Given the description of an element on the screen output the (x, y) to click on. 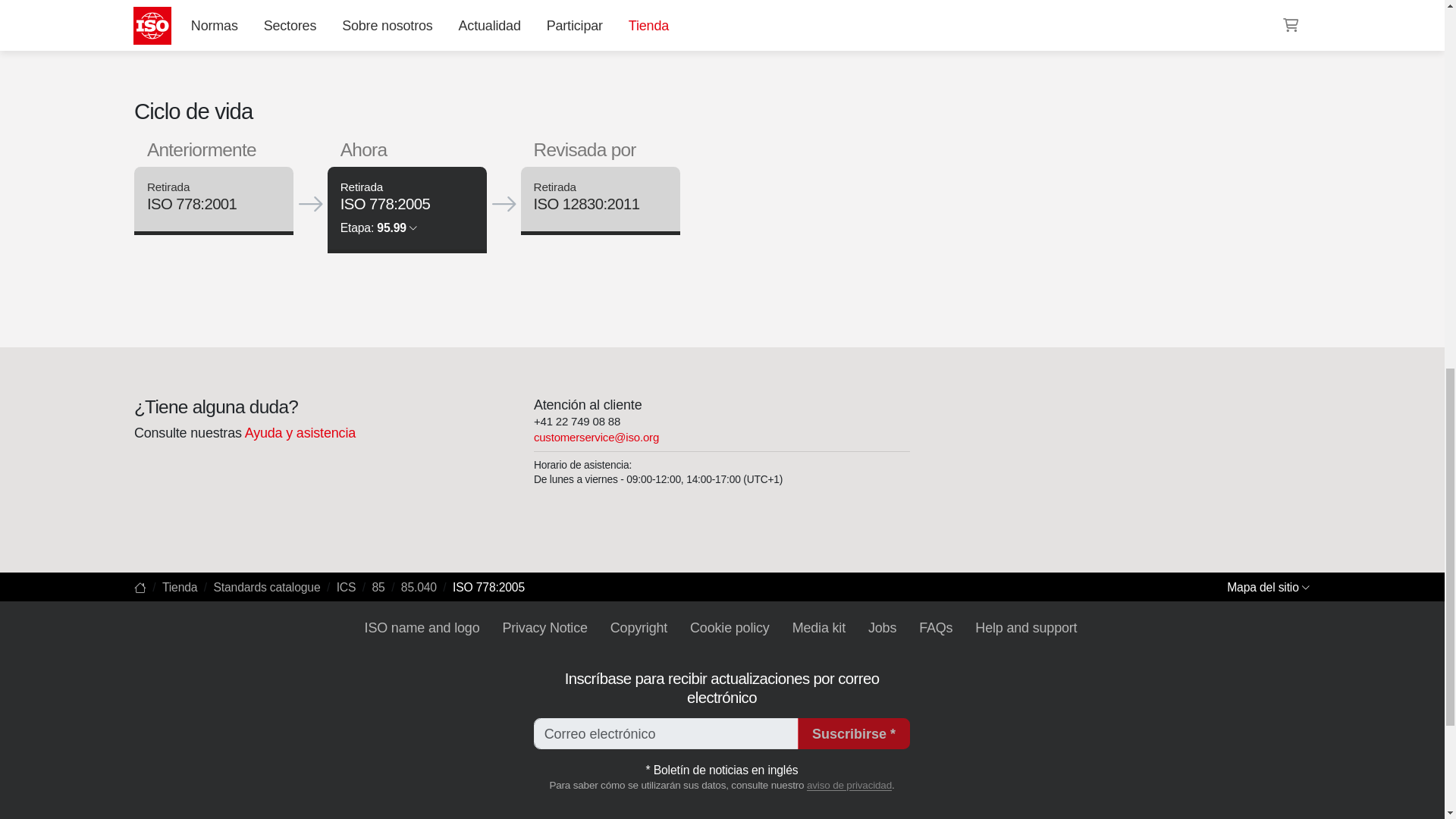
ISO 778:2001 (191, 204)
Etapa: 95.99 (377, 227)
